Given the description of an element on the screen output the (x, y) to click on. 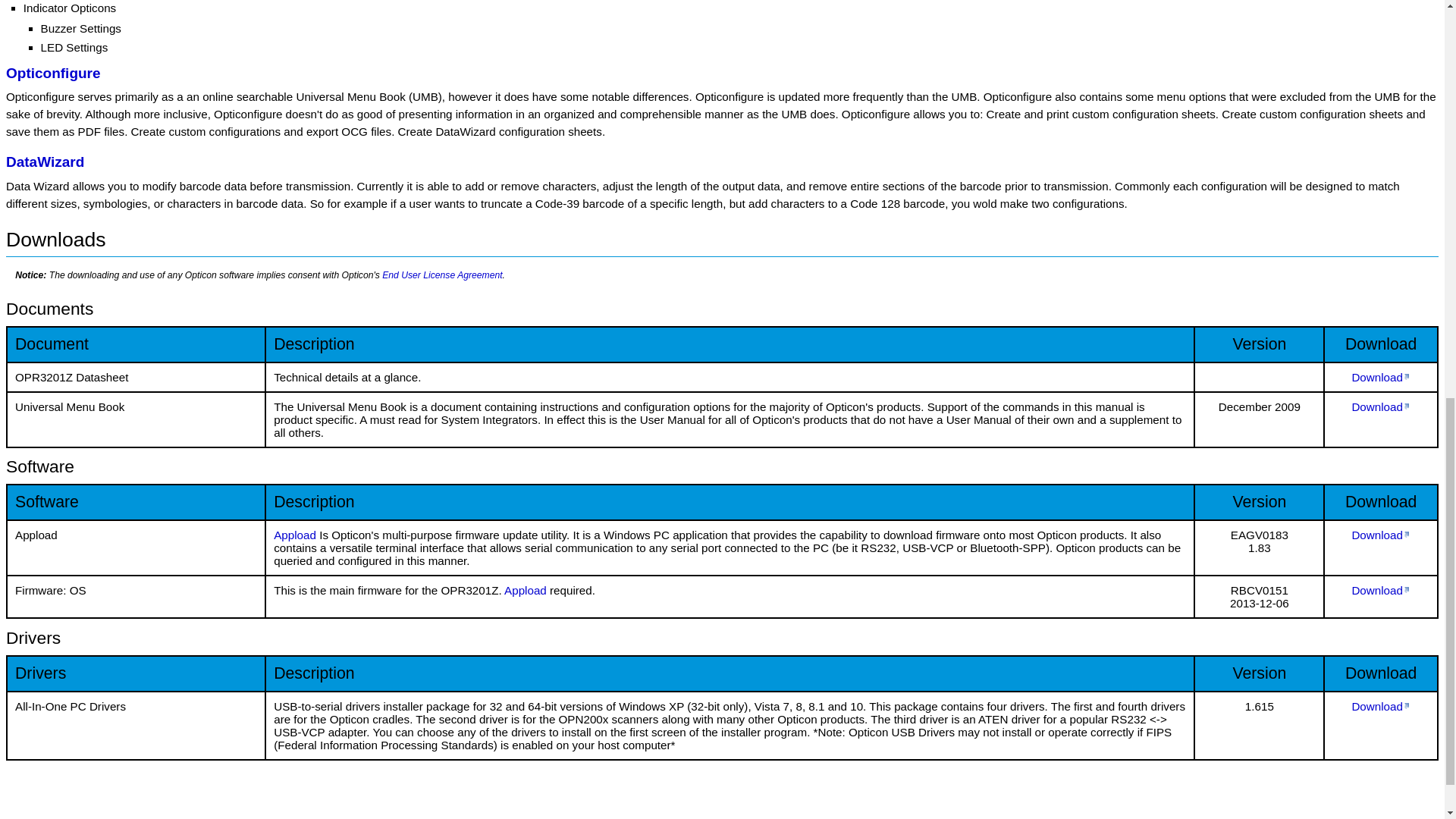
End User License Agreement (441, 275)
Appload (525, 590)
DataWizard (44, 161)
Opticonfigure (52, 73)
Appload (294, 534)
Appload (294, 534)
Download (1380, 534)
Download (1380, 406)
Download (1380, 377)
Opticonfigure (52, 73)
DataWizard (44, 161)
Appload (525, 590)
EULA (441, 275)
Download (1380, 590)
Download (1380, 706)
